Given the description of an element on the screen output the (x, y) to click on. 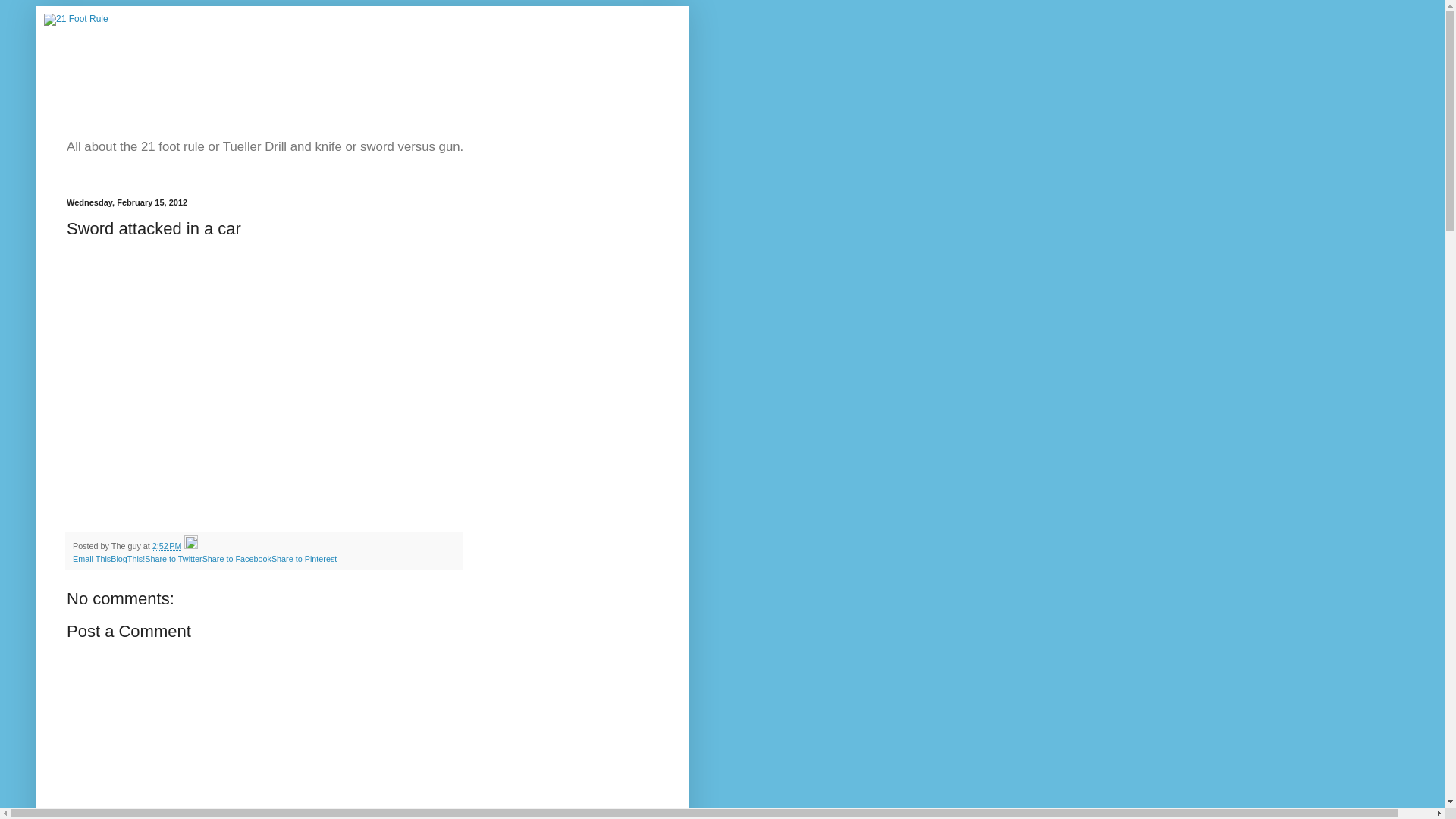
Email This Element type: text (91, 558)
Share to Pinterest Element type: text (303, 558)
Edit Post Element type: hover (190, 545)
Share to Facebook Element type: text (236, 558)
BlogThis! Element type: text (127, 558)
Share to Twitter Element type: text (172, 558)
